Given the description of an element on the screen output the (x, y) to click on. 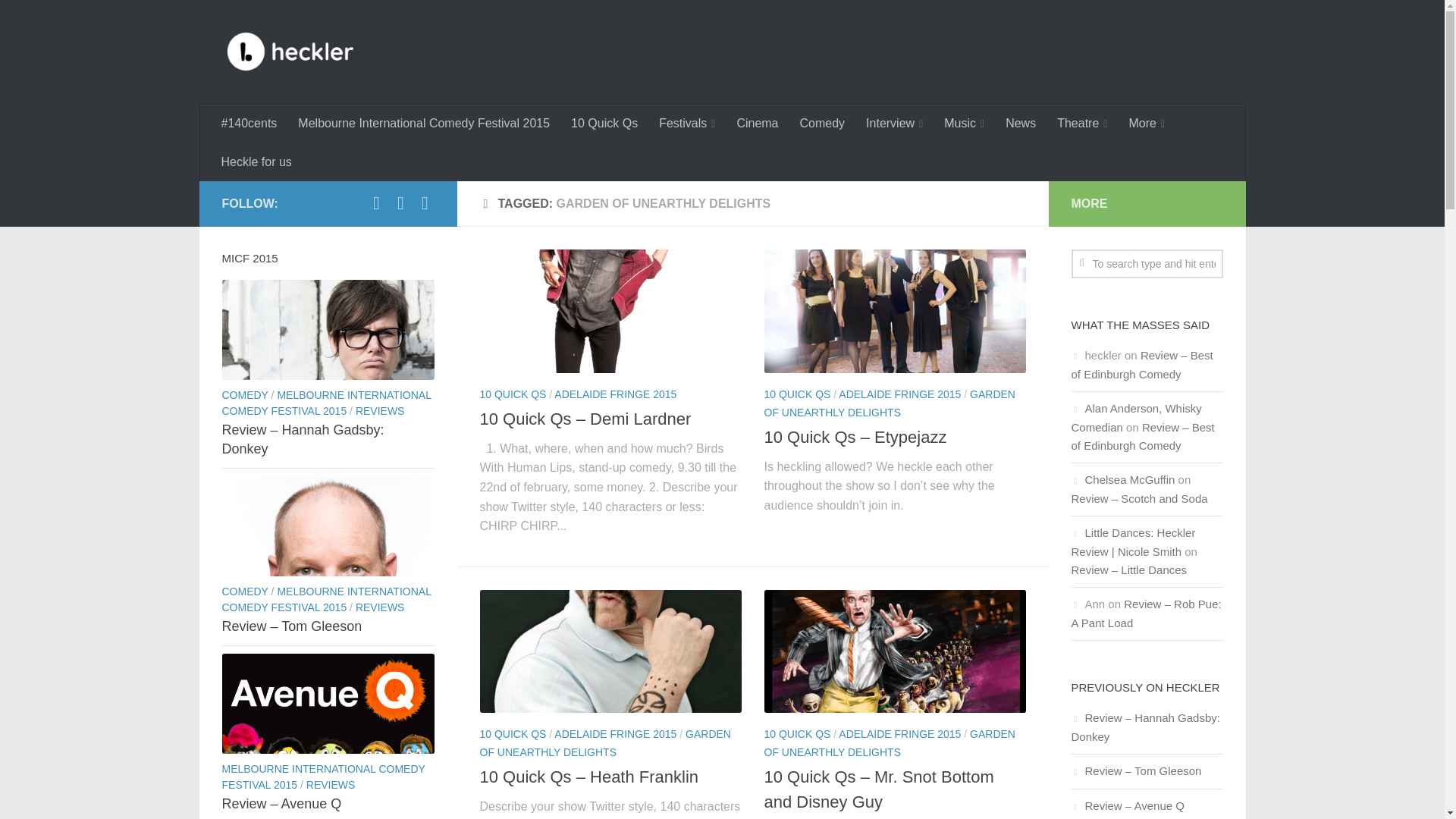
Melbourne International Comedy Festival 2015 (423, 123)
More (1146, 123)
To search type and hit enter (1146, 263)
Music (963, 123)
Festivals (686, 123)
Comedy (822, 123)
Cinema (757, 123)
To search type and hit enter (1146, 263)
Theatre (1082, 123)
10 Quick Qs (603, 123)
